Given the description of an element on the screen output the (x, y) to click on. 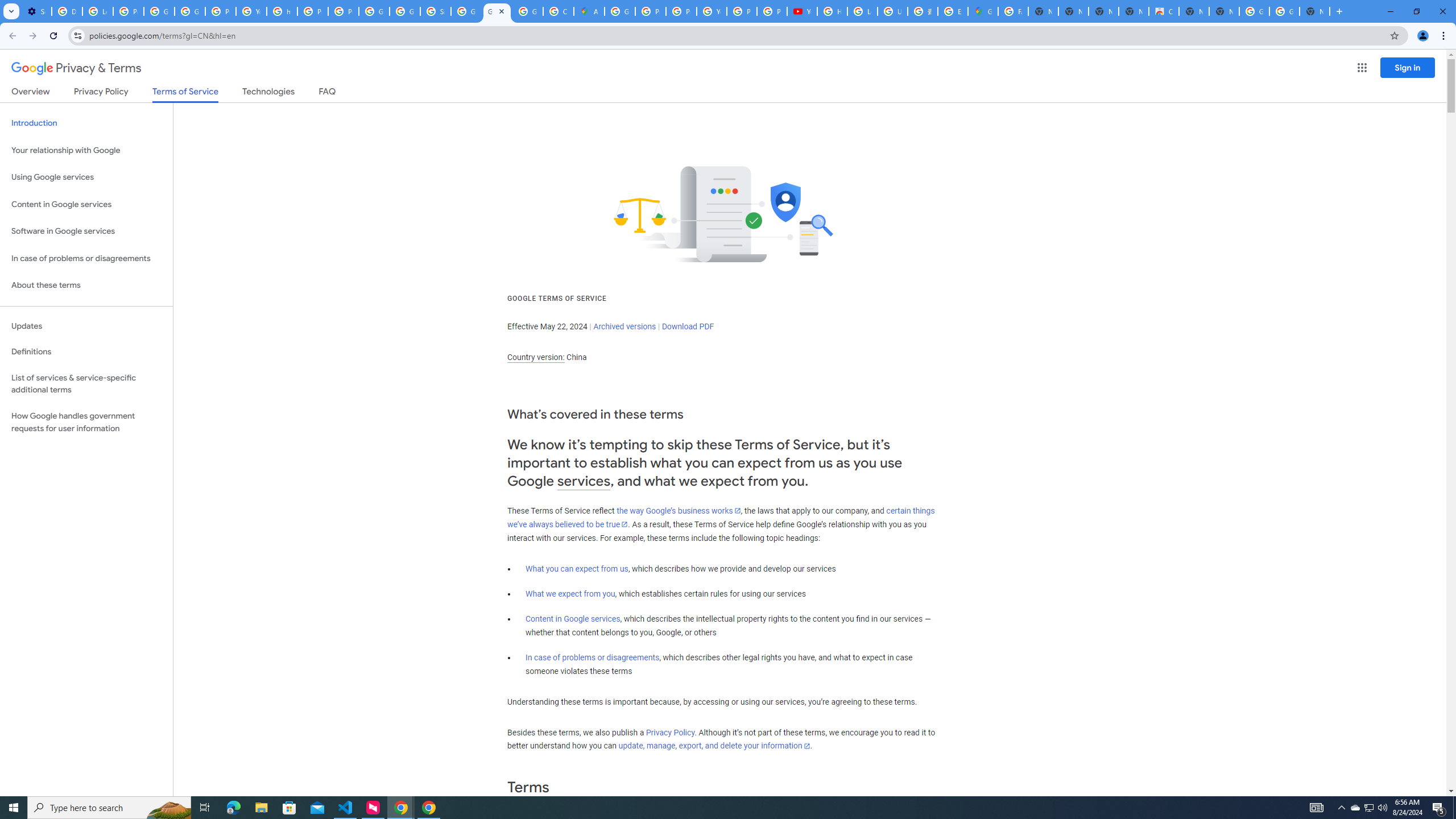
YouTube (251, 11)
Privacy Help Center - Policies Help (650, 11)
Settings - On startup (36, 11)
services (583, 480)
Create your Google Account (558, 11)
Privacy Help Center - Policies Help (312, 11)
Archived versions (624, 326)
YouTube (711, 11)
Content in Google services (572, 618)
